Given the description of an element on the screen output the (x, y) to click on. 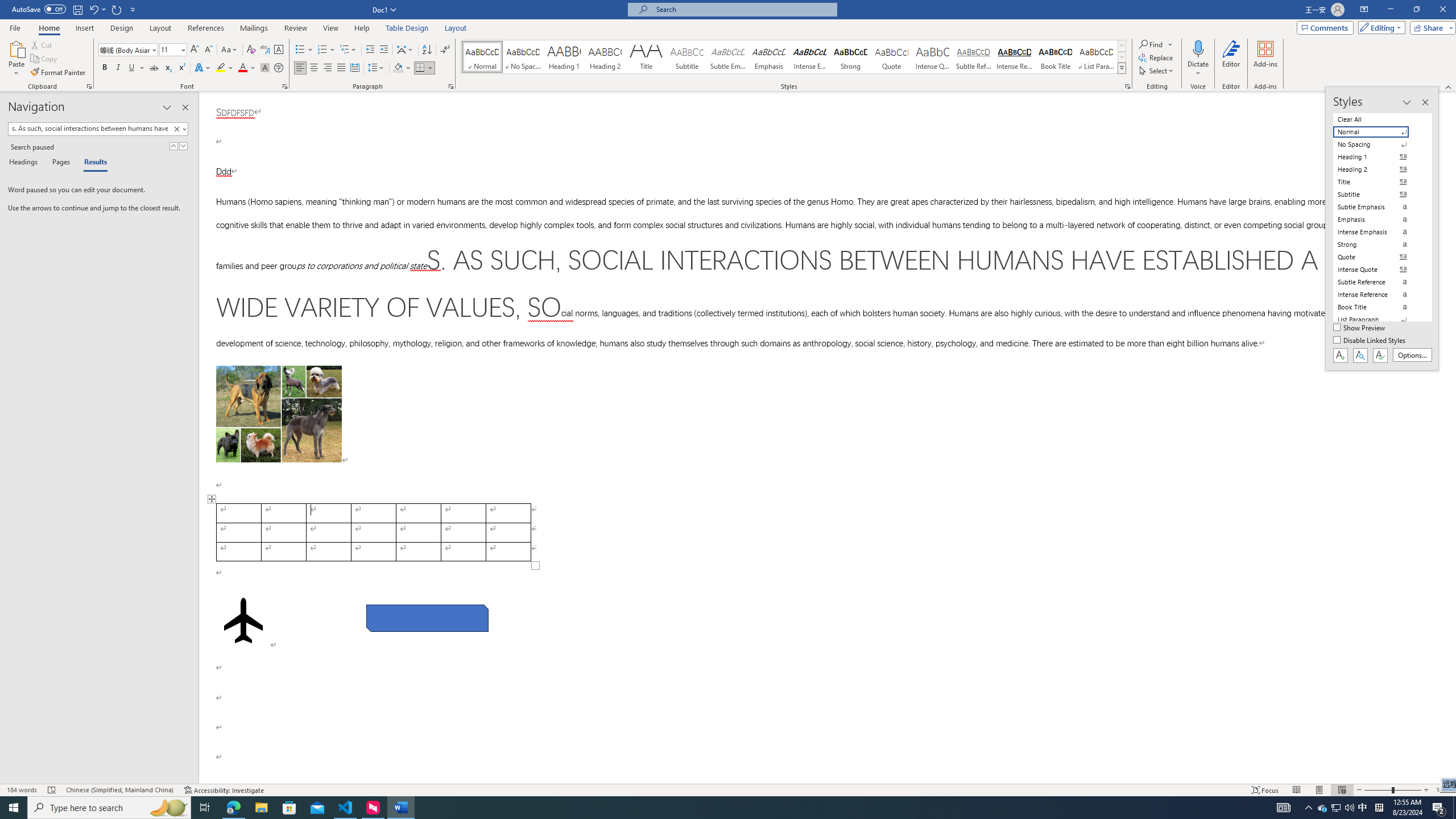
Styles... (1127, 85)
AutomationID: QuickStylesGallery (794, 56)
Enclose Characters... (278, 67)
Undo Style (96, 9)
Distributed (354, 67)
Editor (1231, 58)
Quote (891, 56)
Shading RGB(0, 0, 0) (397, 67)
Text Highlight Color Yellow (220, 67)
Decrease Indent (370, 49)
Center (313, 67)
Text Highlight Color (224, 67)
